Given the description of an element on the screen output the (x, y) to click on. 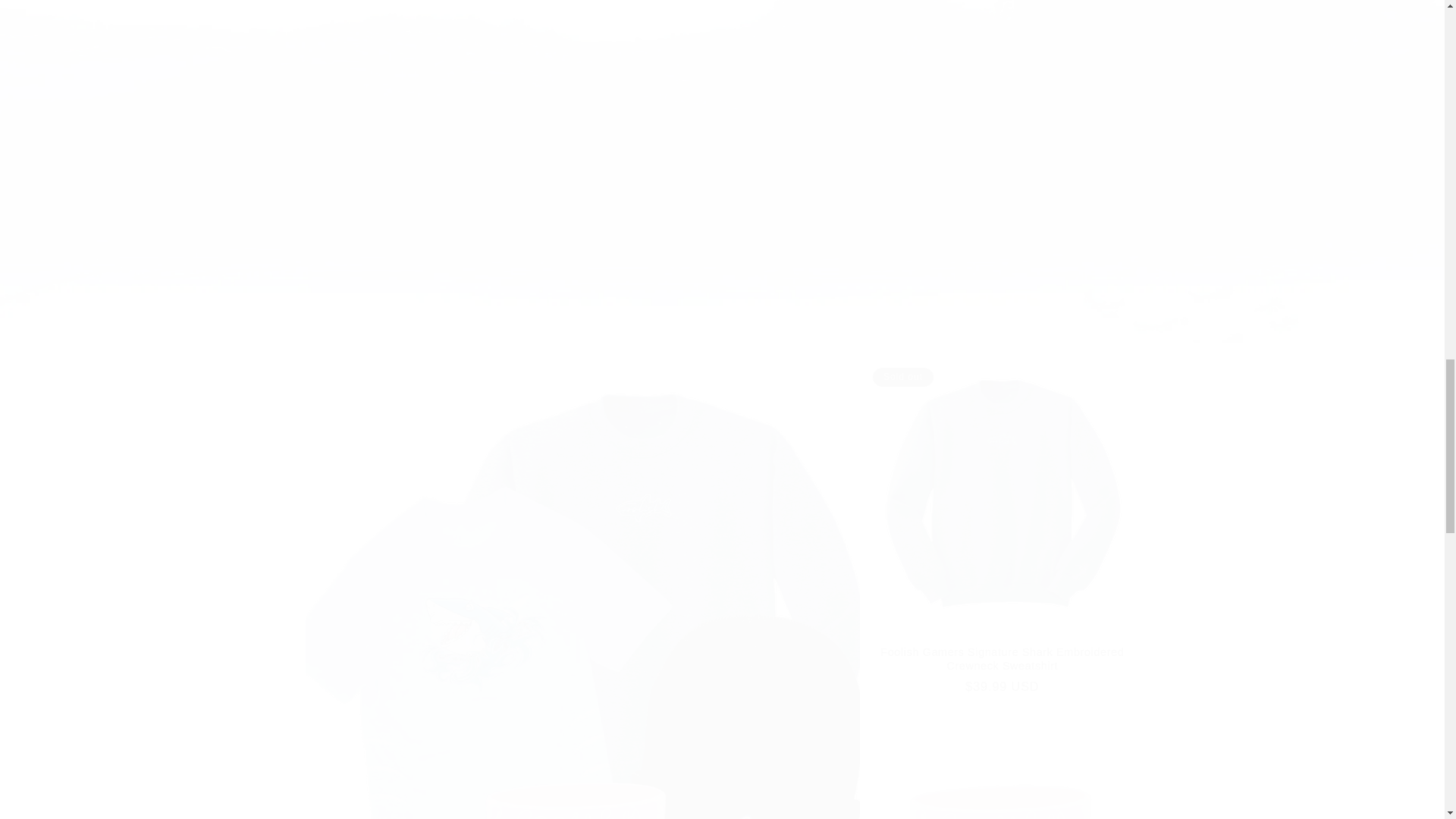
Accessories (1001, 765)
